Given the description of an element on the screen output the (x, y) to click on. 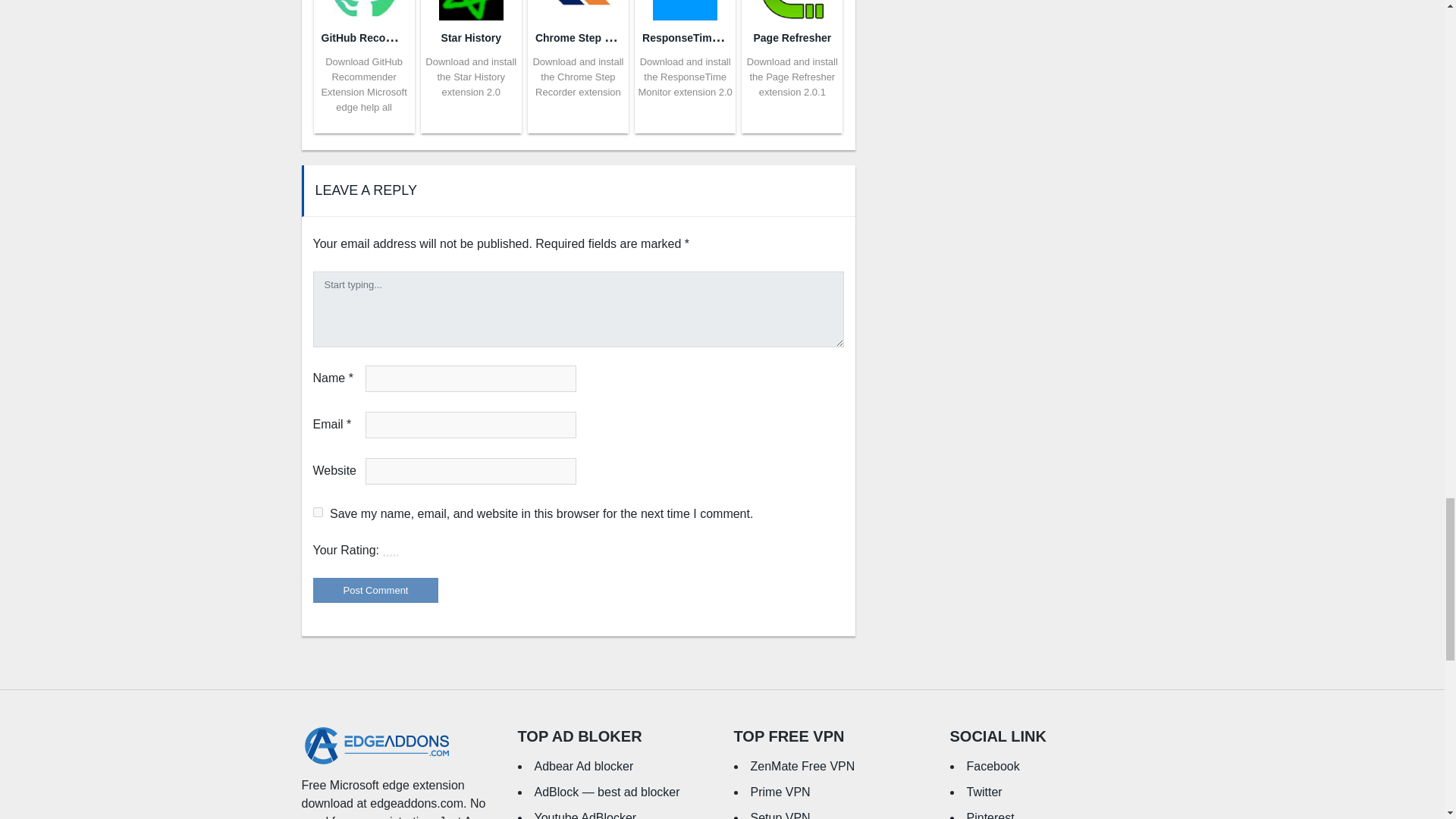
yes (317, 511)
Star History (470, 37)
Post Comment (375, 590)
GitHub Recommender (377, 37)
Download and install the Star History extension 2.0 (470, 76)
